Given the description of an element on the screen output the (x, y) to click on. 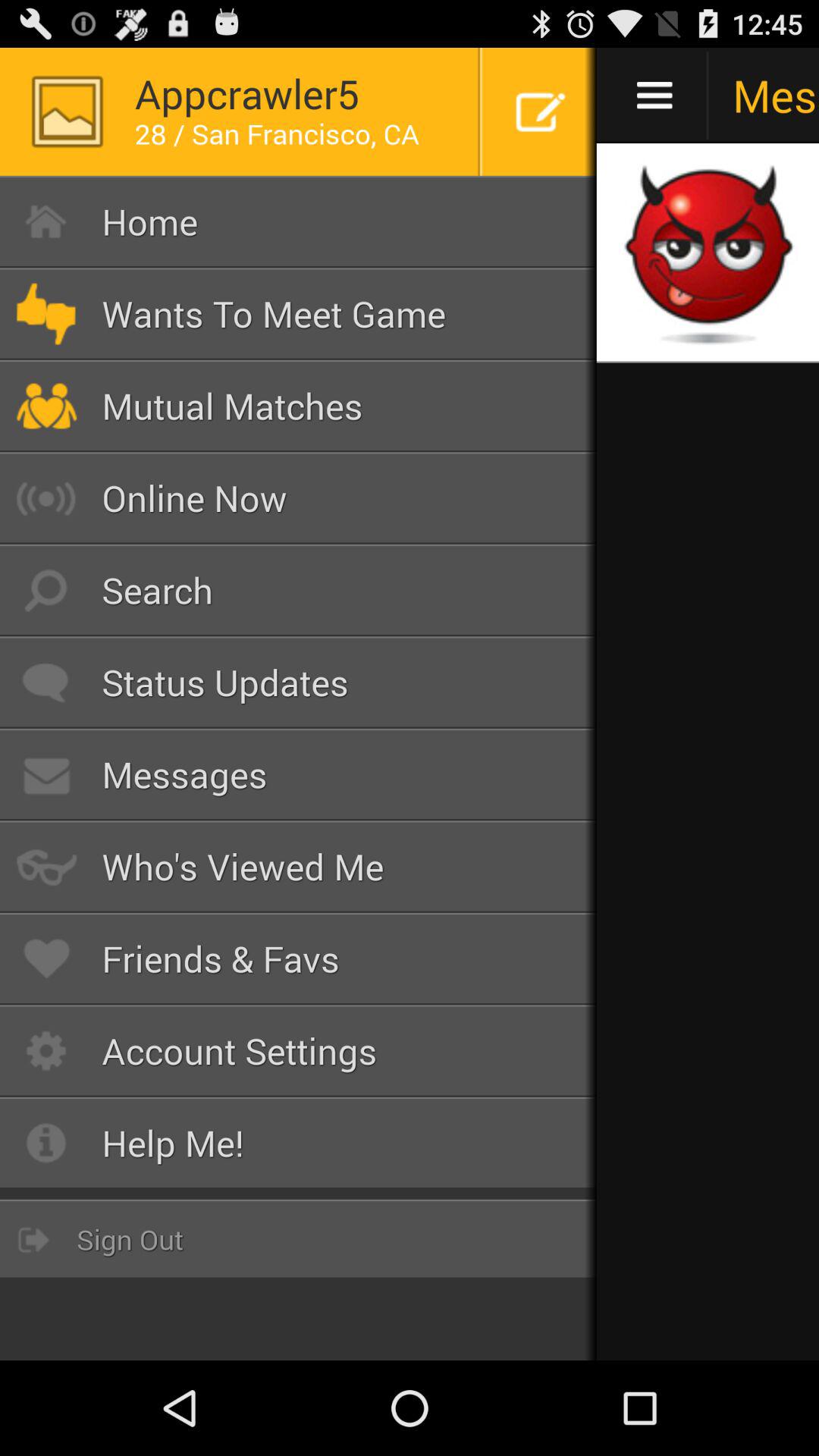
press button below wants to meet item (298, 406)
